Given the description of an element on the screen output the (x, y) to click on. 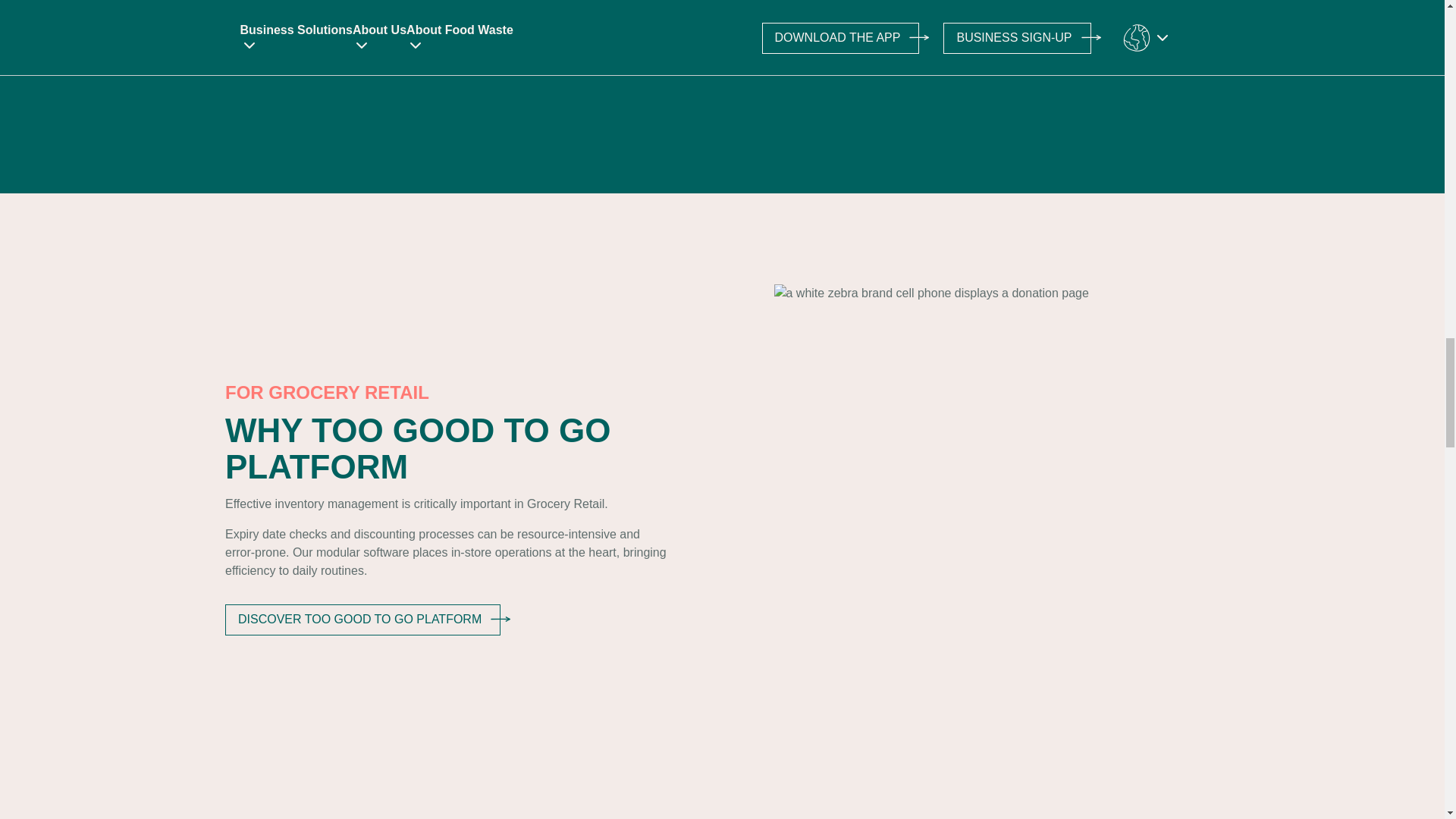
Discover Too Good To Go Platform (361, 618)
